Given the description of an element on the screen output the (x, y) to click on. 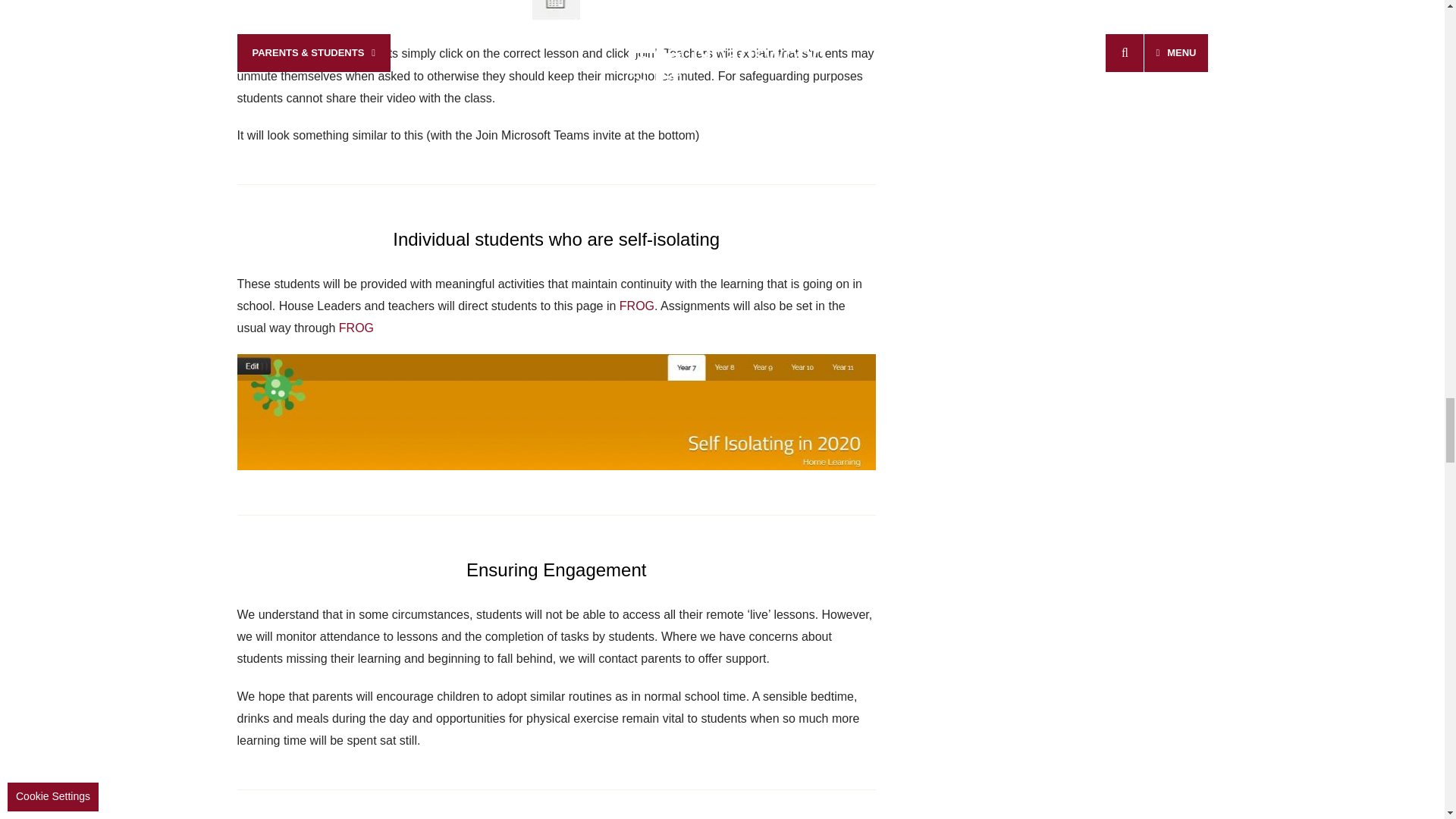
FROG (356, 327)
FROG (636, 305)
